Given the description of an element on the screen output the (x, y) to click on. 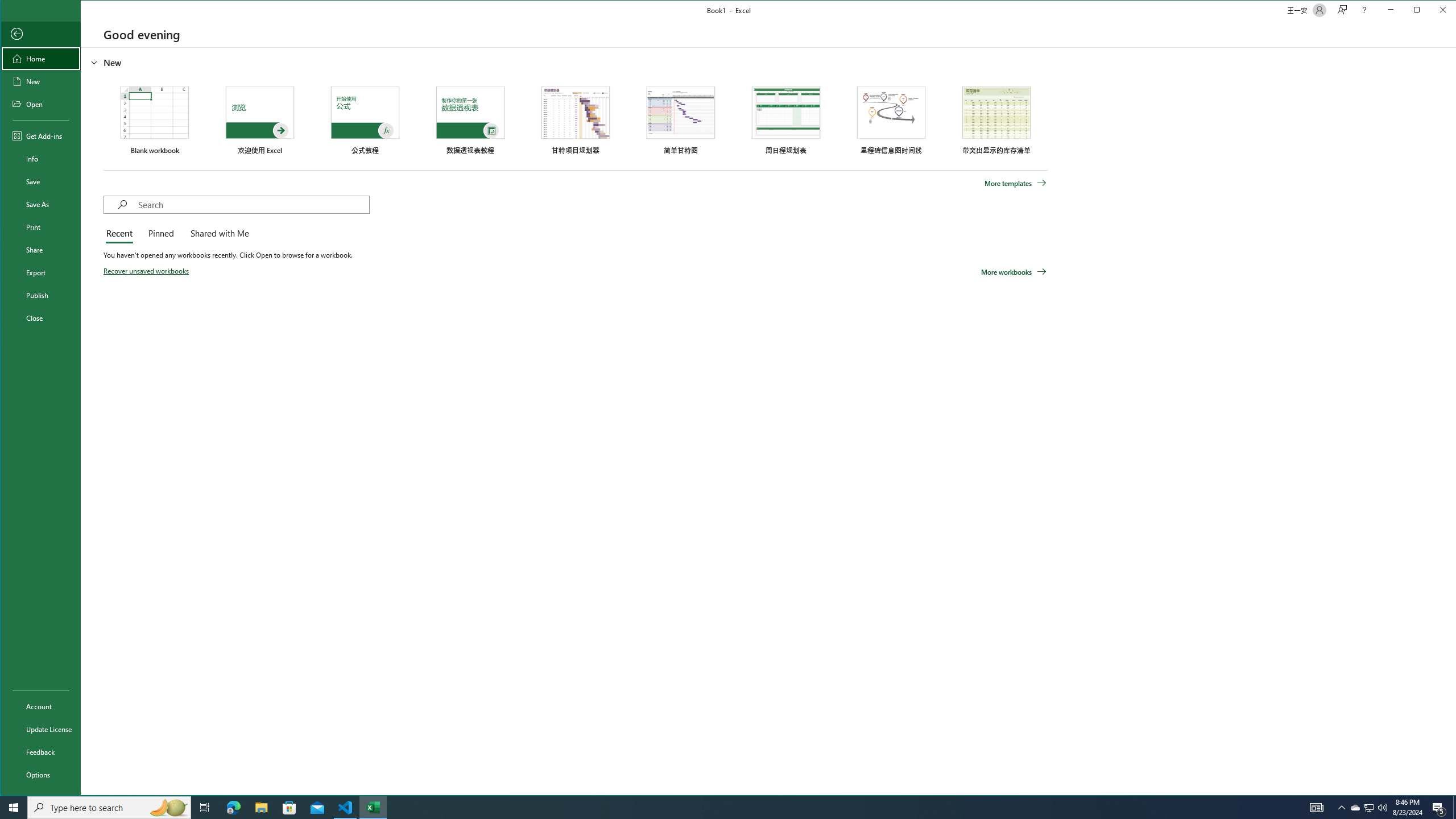
Publish (40, 295)
Excel - 1 running window (373, 807)
More workbooks (1013, 271)
Q2790: 100% (1382, 807)
Visual Studio Code - 1 running window (345, 807)
Search highlights icon opens search home window (167, 807)
Pinned (1355, 807)
Options (160, 234)
